Given the description of an element on the screen output the (x, y) to click on. 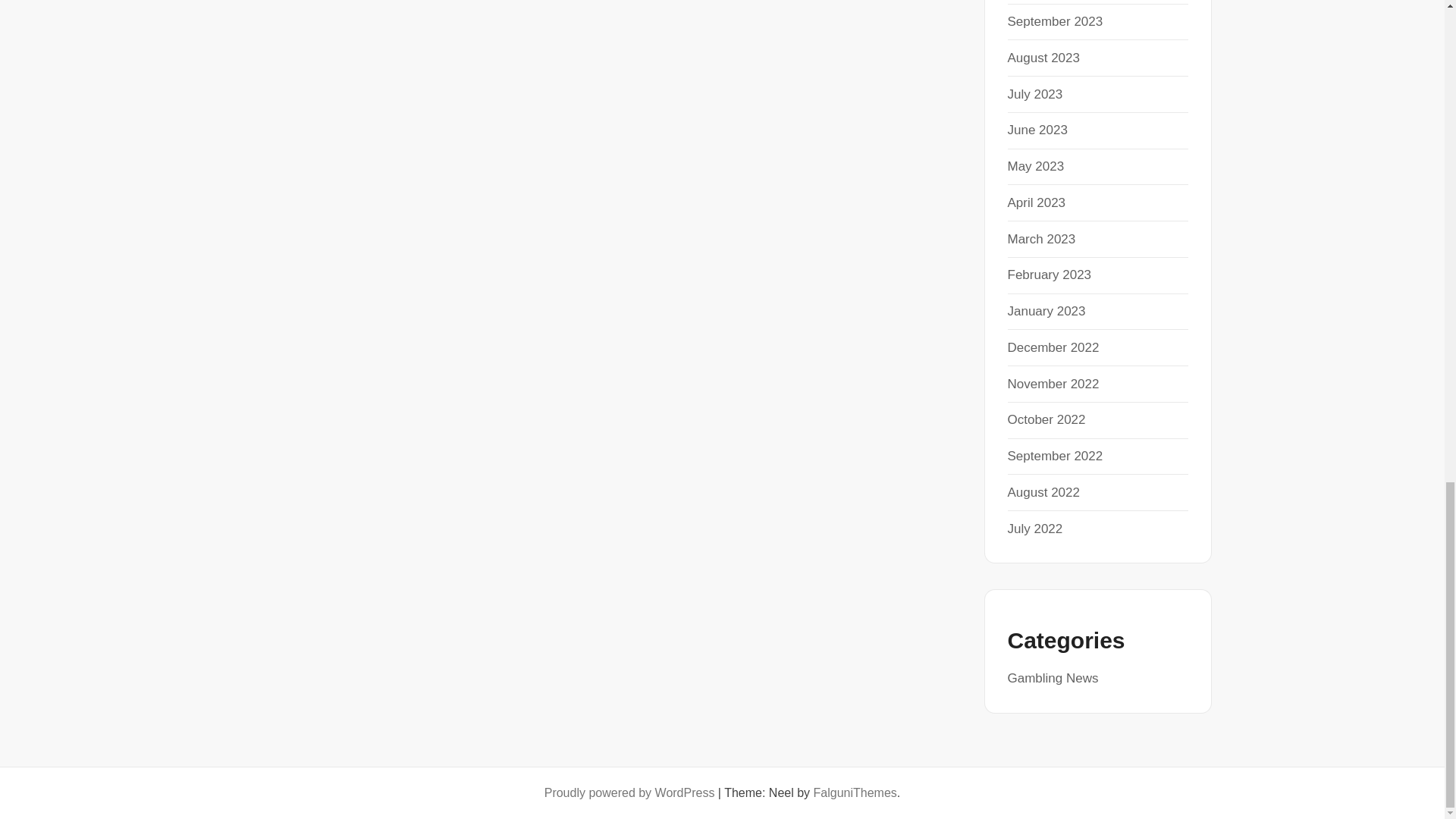
June 2023 (1037, 129)
February 2023 (1048, 274)
April 2023 (1036, 202)
September 2023 (1054, 21)
March 2023 (1041, 238)
May 2023 (1035, 165)
August 2023 (1042, 57)
July 2023 (1034, 93)
January 2023 (1045, 310)
